Given the description of an element on the screen output the (x, y) to click on. 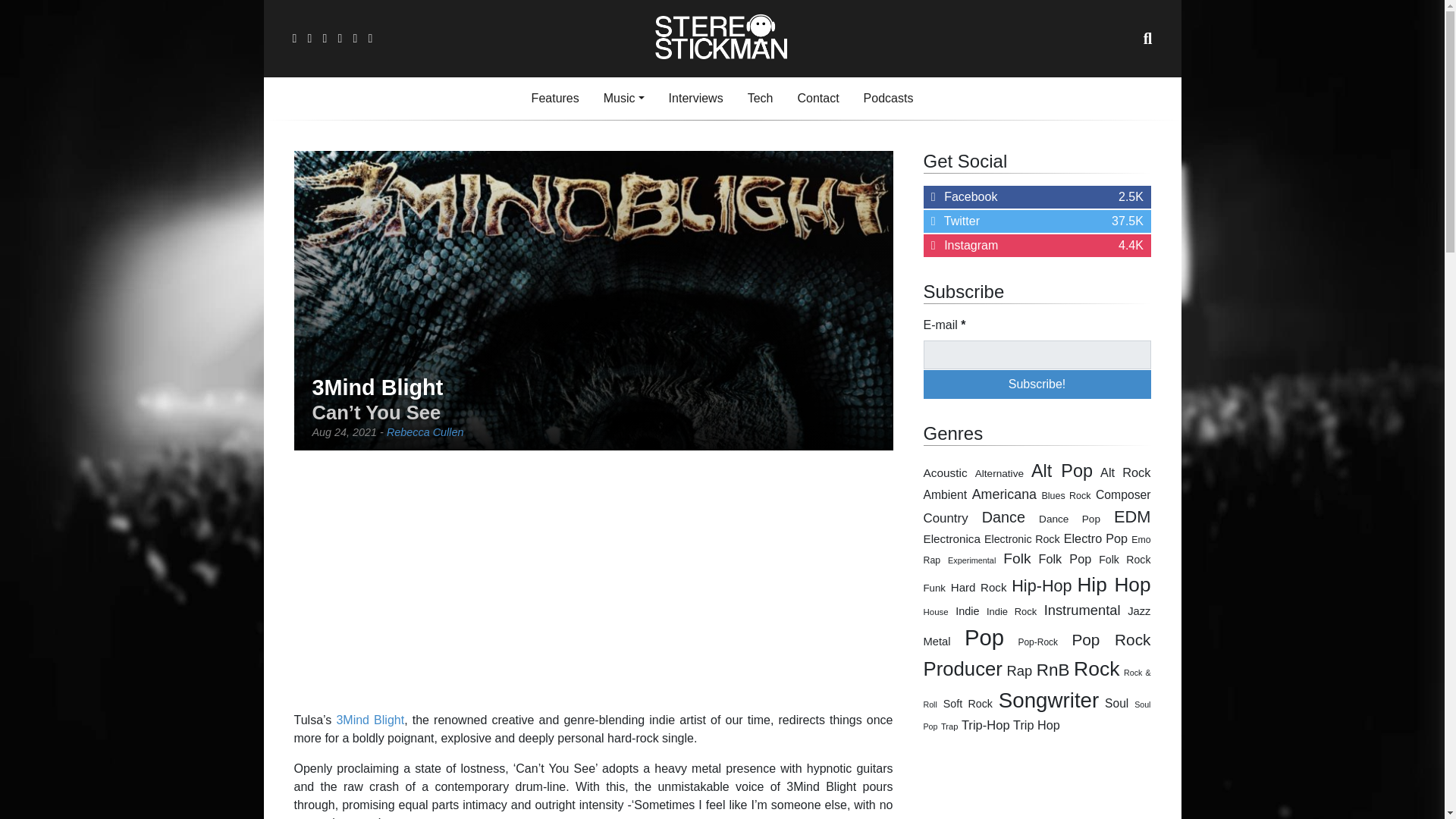
Subscribe! (1037, 384)
Music (623, 98)
E-mail (1037, 354)
Contact (817, 98)
Advertisement (593, 581)
Features (555, 98)
Podcasts (1037, 196)
Rebecca Cullen (888, 98)
Advertisement (425, 431)
Interviews (1037, 789)
Tech (695, 98)
Features (760, 98)
Interviews (555, 98)
